Given the description of an element on the screen output the (x, y) to click on. 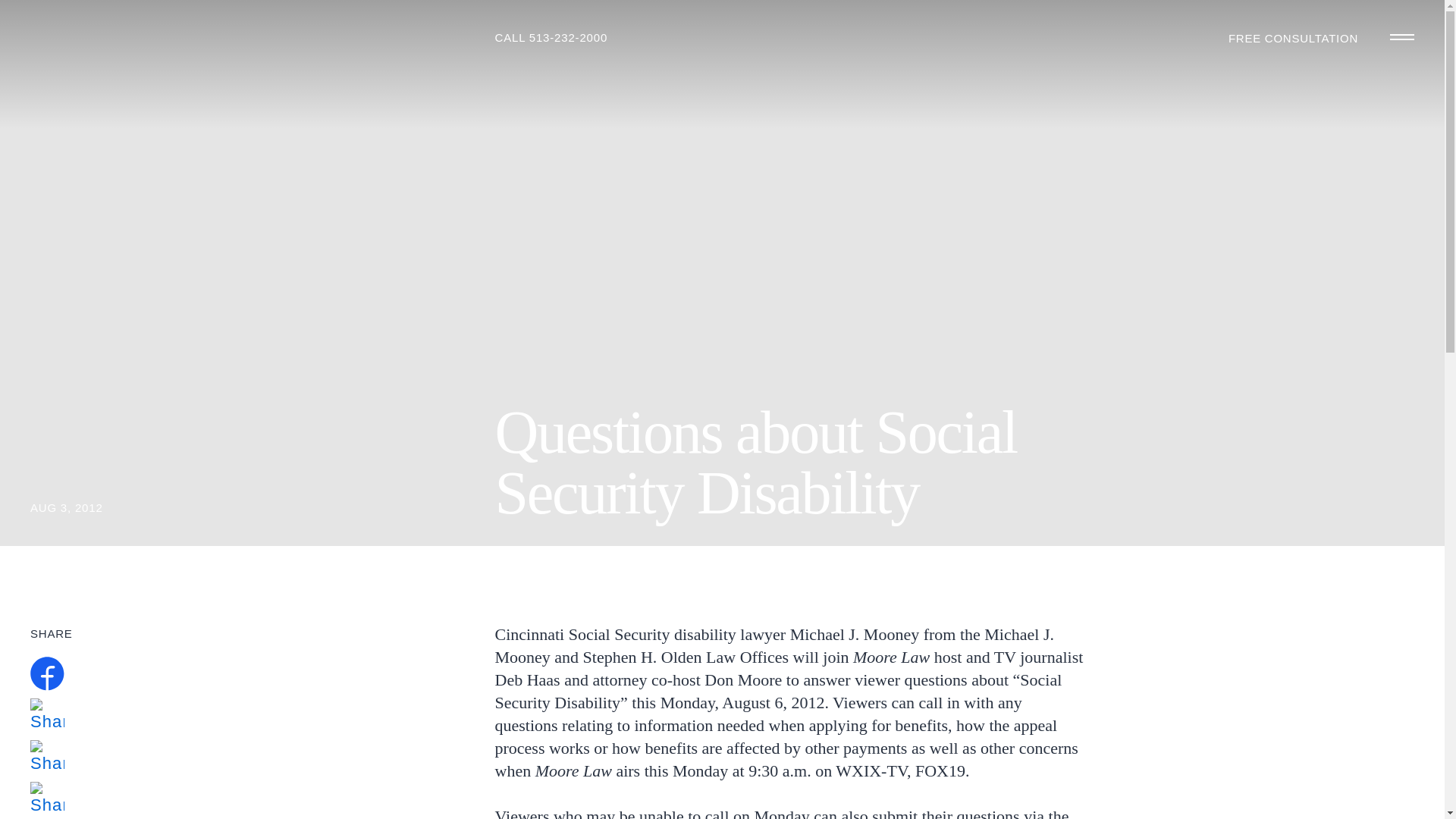
FREE CONSULTATION (1293, 38)
CALL 513-232-2000 (551, 37)
